Given the description of an element on the screen output the (x, y) to click on. 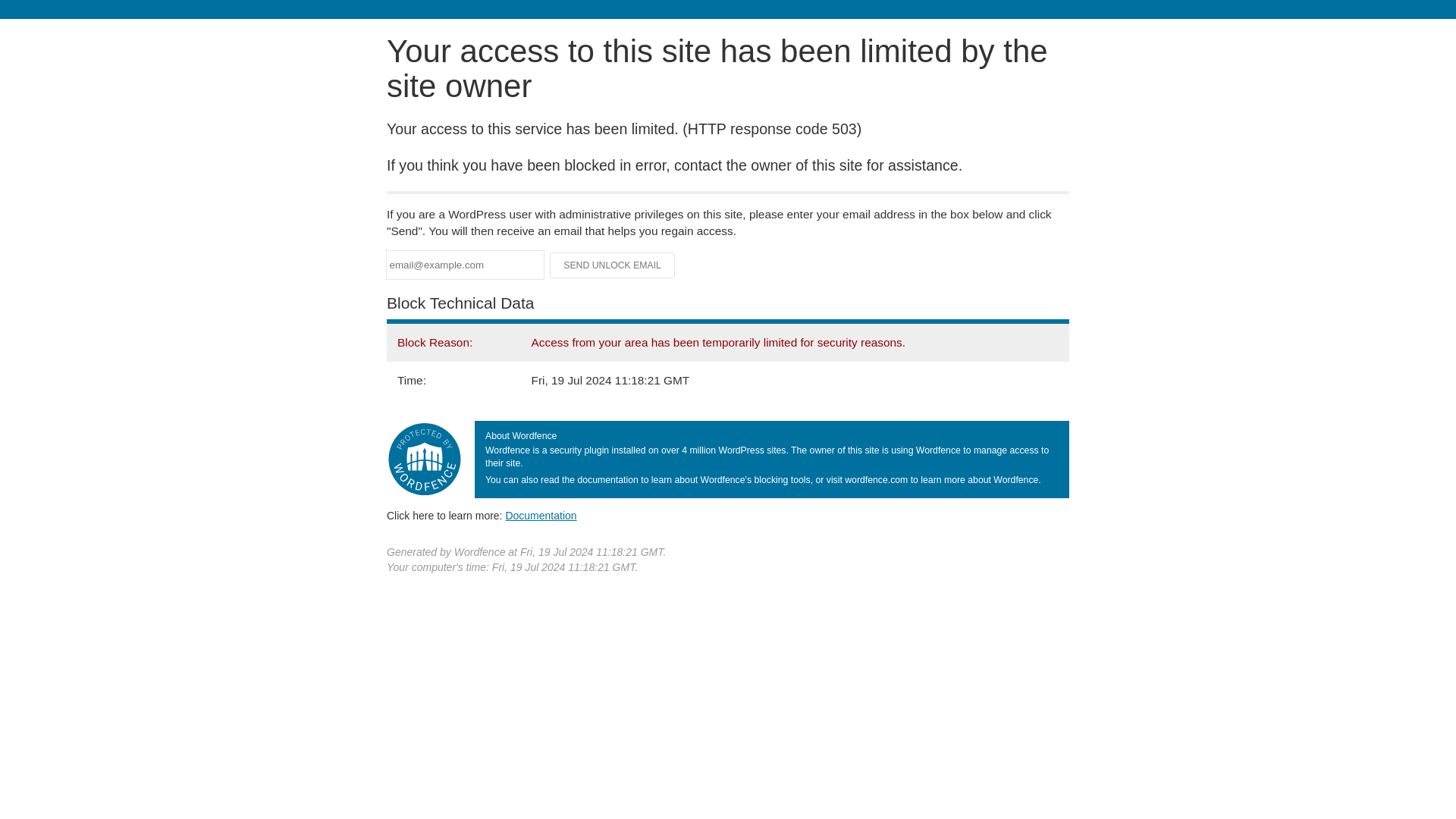
Send Unlock Email (612, 265)
Send Unlock Email (612, 265)
Documentation (540, 515)
